Given the description of an element on the screen output the (x, y) to click on. 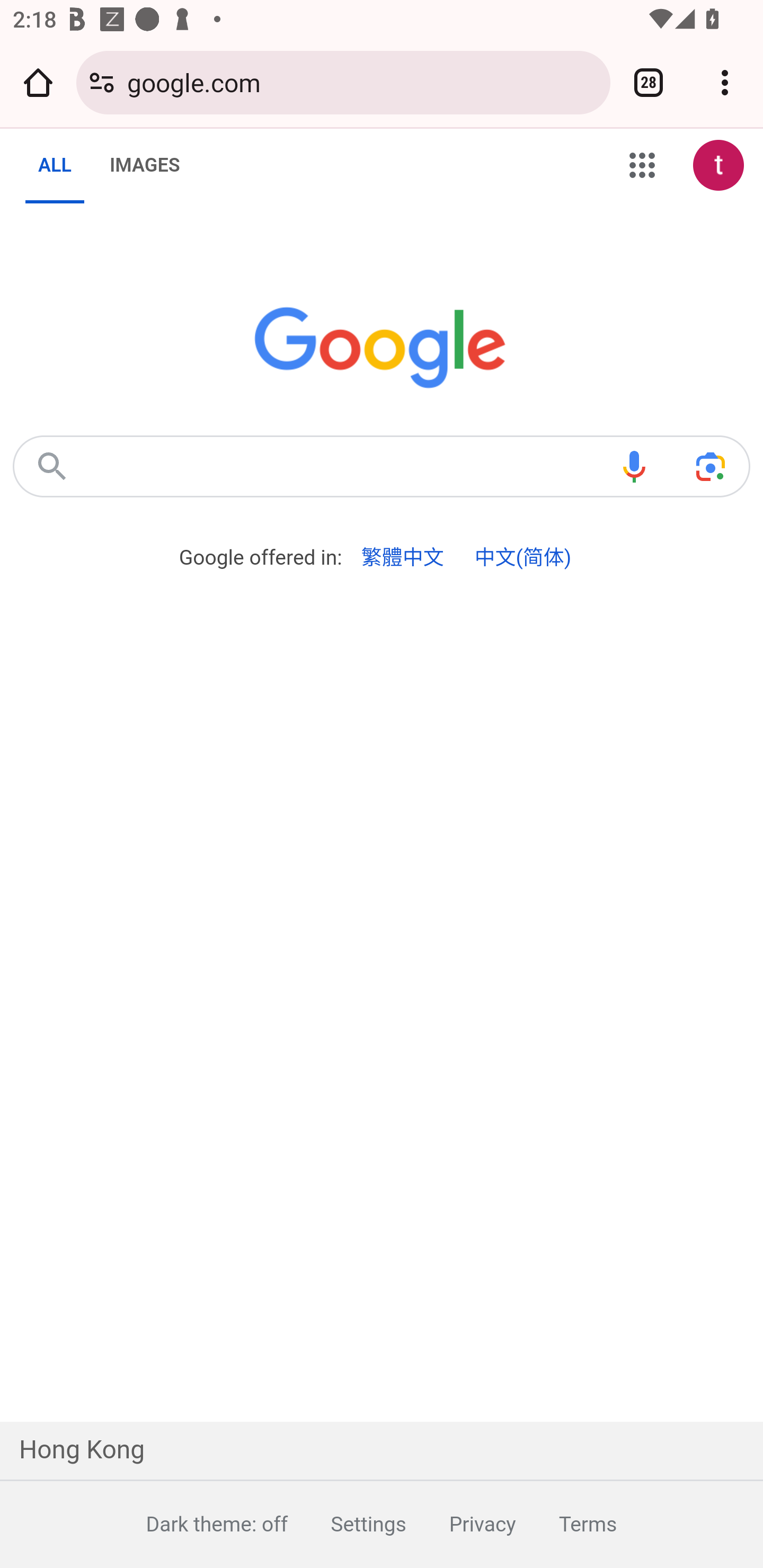
Open the home page (38, 82)
Connection is secure (101, 82)
Switch or close tabs (648, 82)
Customize and control Google Chrome (724, 82)
google.com (362, 82)
IMAGES (144, 165)
Google apps (641, 165)
Google Search (52, 466)
Search using your camera or photos (710, 466)
繁體中文 (402, 557)
中文(简体) (522, 557)
Dark theme: off (195, 1523)
Settings (346, 1523)
Privacy (460, 1523)
Terms (566, 1523)
